Given the description of an element on the screen output the (x, y) to click on. 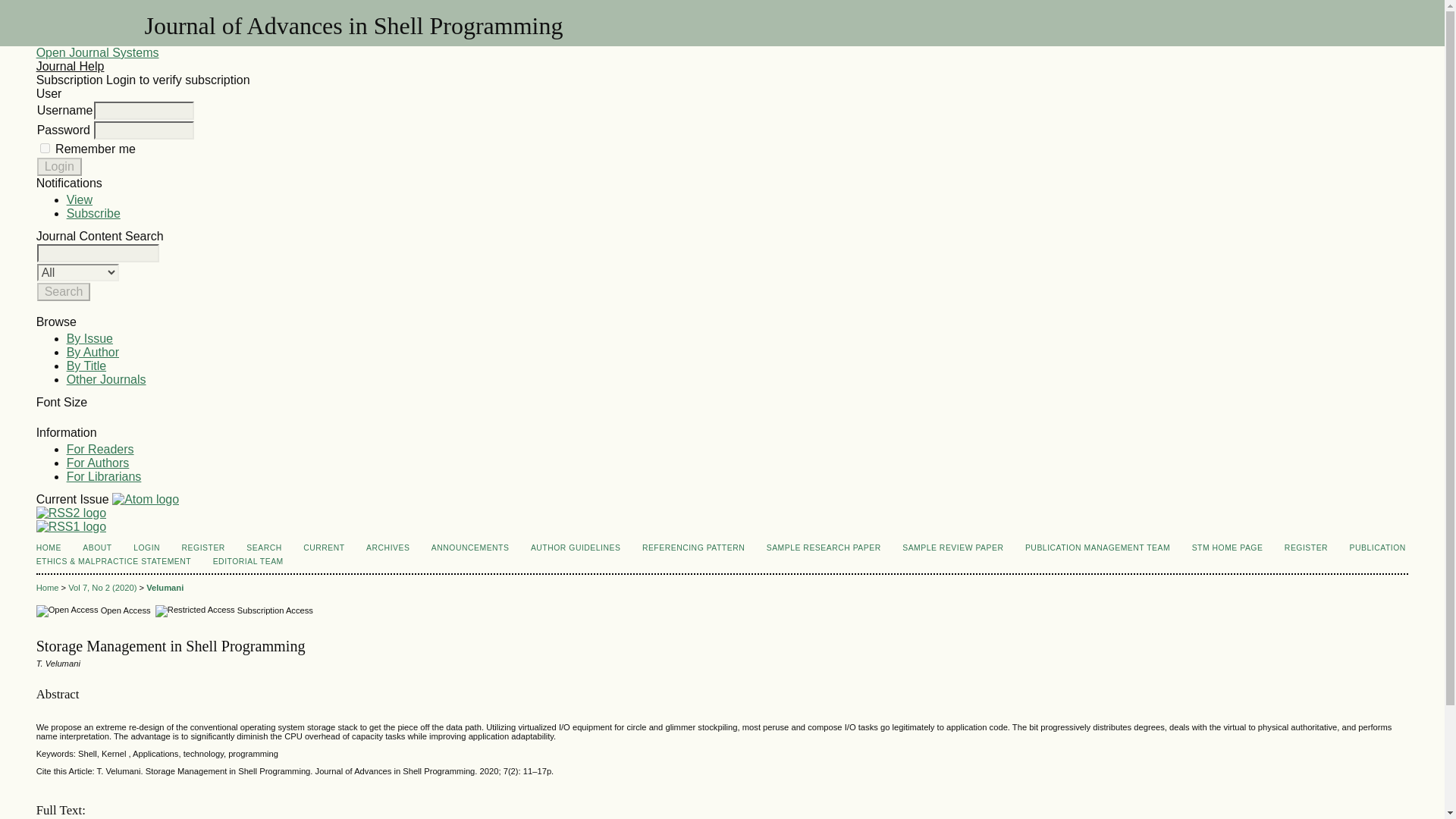
By Author (92, 351)
REFERENCING PATTERN (693, 547)
Login (59, 167)
SAMPLE REVIEW PAPER (952, 547)
Subscribe (93, 213)
ANNOUNCEMENTS (469, 547)
SAMPLE RESEARCH PAPER (823, 547)
REGISTER (1305, 547)
Home (47, 587)
SEARCH (263, 547)
AUTHOR GUIDELINES (576, 547)
CURRENT (322, 547)
Open Journal Systems (97, 51)
HOME (48, 547)
For Librarians (103, 476)
